Given the description of an element on the screen output the (x, y) to click on. 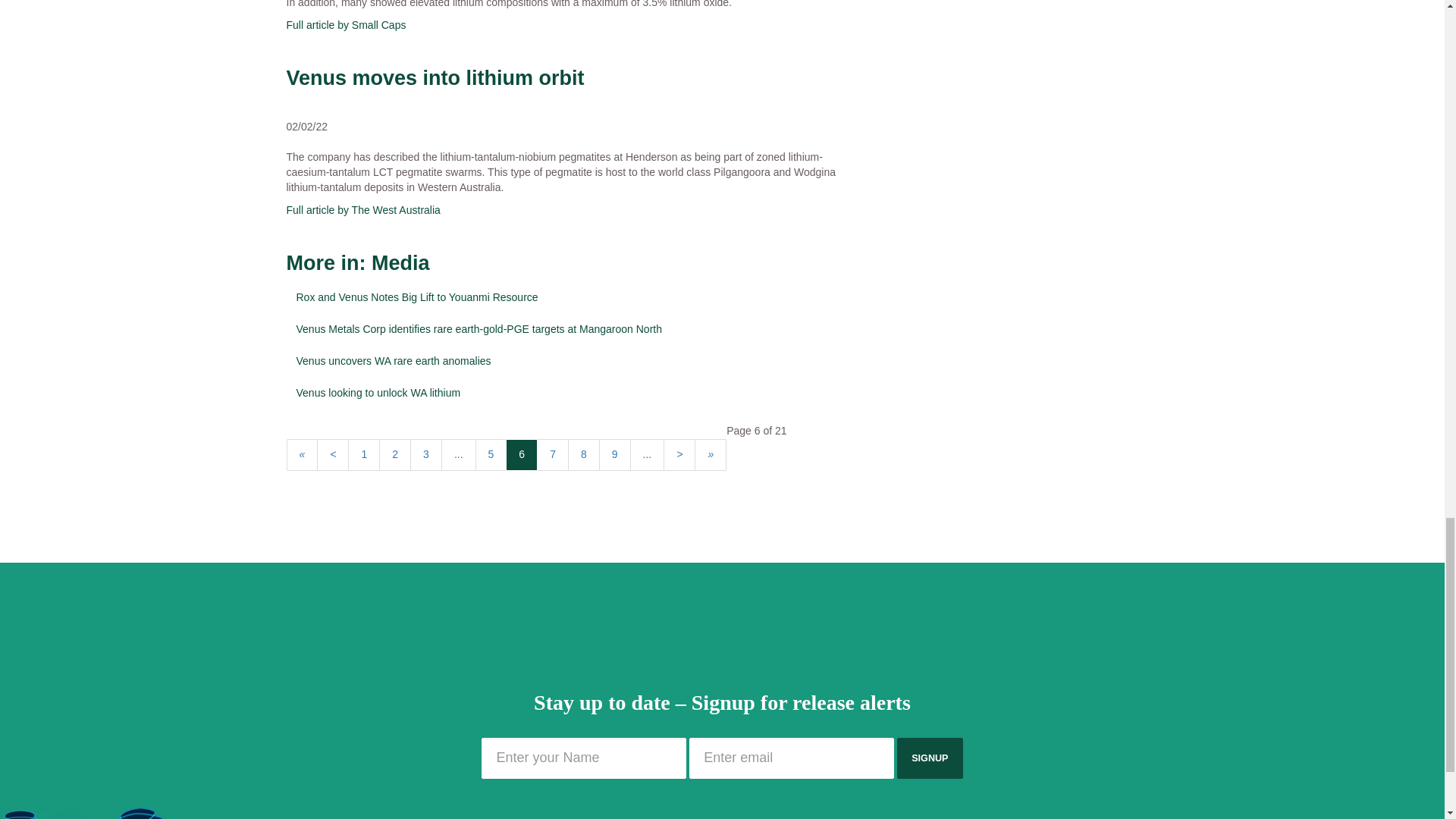
Full article by The West Australia (363, 209)
2 (394, 454)
3 (426, 454)
End (710, 454)
10 (647, 454)
Next (679, 454)
5 (491, 454)
Venus moves into lithium orbit (435, 77)
Start (302, 454)
7 (553, 454)
1 (363, 454)
Full article by Small Caps (346, 24)
4 (458, 454)
9 (614, 454)
Prev (333, 454)
